Given the description of an element on the screen output the (x, y) to click on. 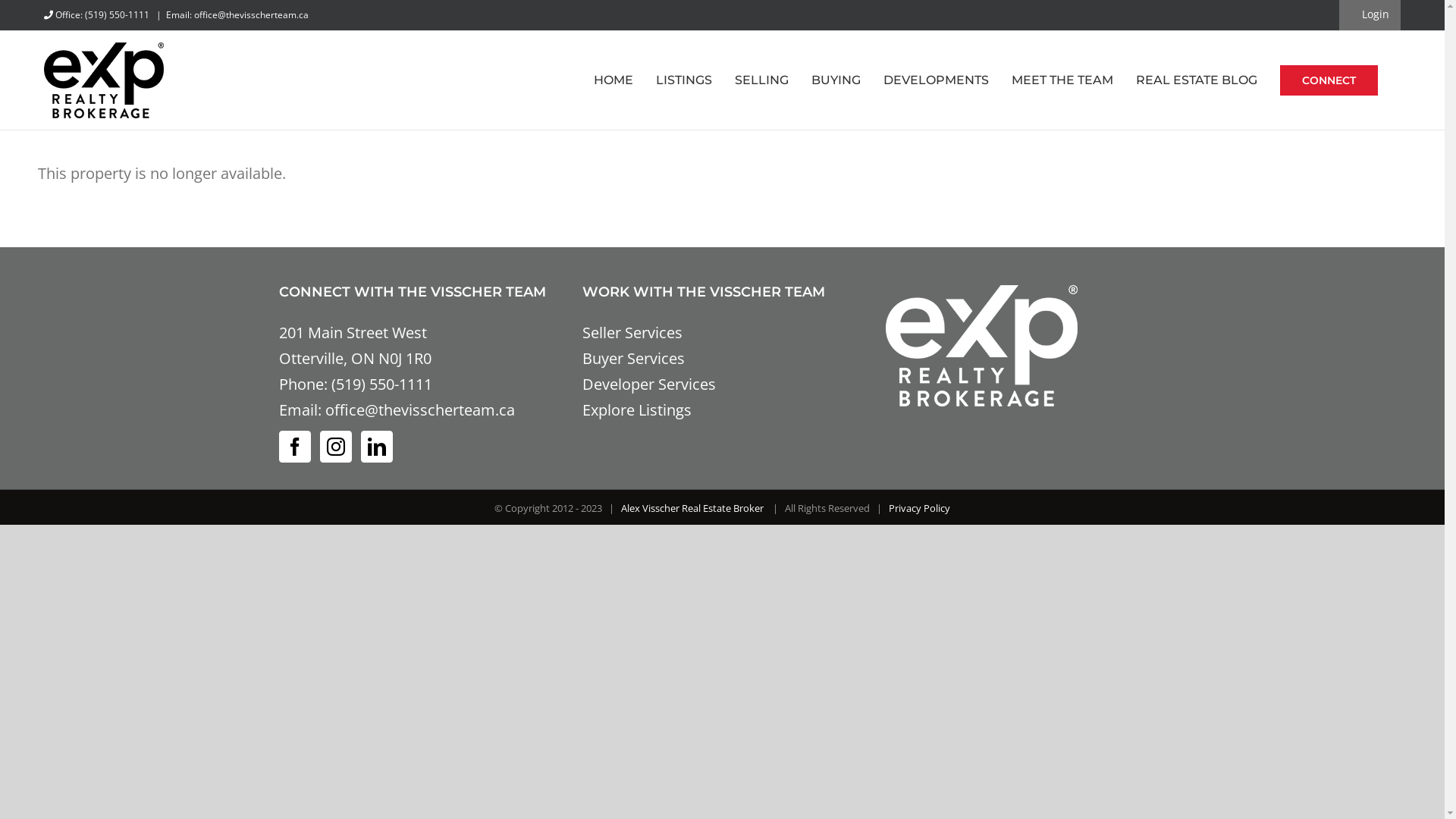
MEET THE TEAM Element type: text (1062, 80)
SELLING Element type: text (761, 80)
HOME Element type: text (613, 80)
Privacy Policy Element type: text (919, 507)
Alex Visscher Real Estate Broker Element type: text (693, 507)
Email: office@thevisscherteam.ca Element type: text (237, 14)
BUYING Element type: text (835, 80)
Explore Listings Element type: text (636, 409)
Seller Services Element type: text (632, 332)
CONNECT Element type: text (1328, 80)
LISTINGS Element type: text (683, 80)
Login Element type: text (1367, 14)
LinkedIn Element type: hover (376, 446)
DEVELOPMENTS Element type: text (935, 80)
Instagram Element type: hover (335, 446)
Facebook Element type: hover (294, 446)
Buyer Services Element type: text (633, 358)
office@thevisscherteam.ca Element type: text (419, 409)
REAL ESTATE BLOG Element type: text (1196, 80)
Developer Services Element type: text (648, 383)
